Given the description of an element on the screen output the (x, y) to click on. 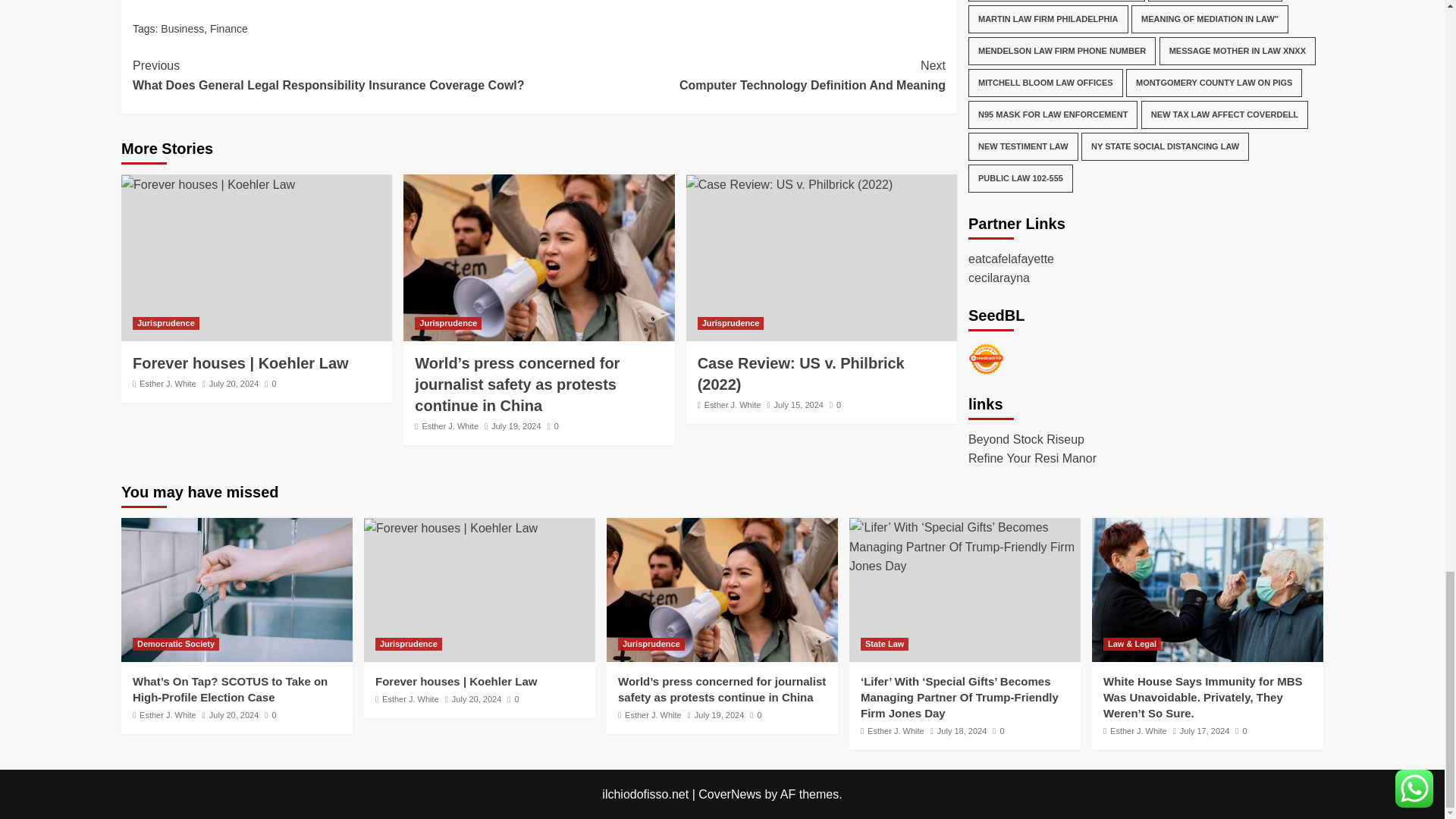
Business (181, 28)
Esther J. White (741, 75)
July 20, 2024 (167, 383)
Finance (234, 383)
Jurisprudence (228, 28)
